Given the description of an element on the screen output the (x, y) to click on. 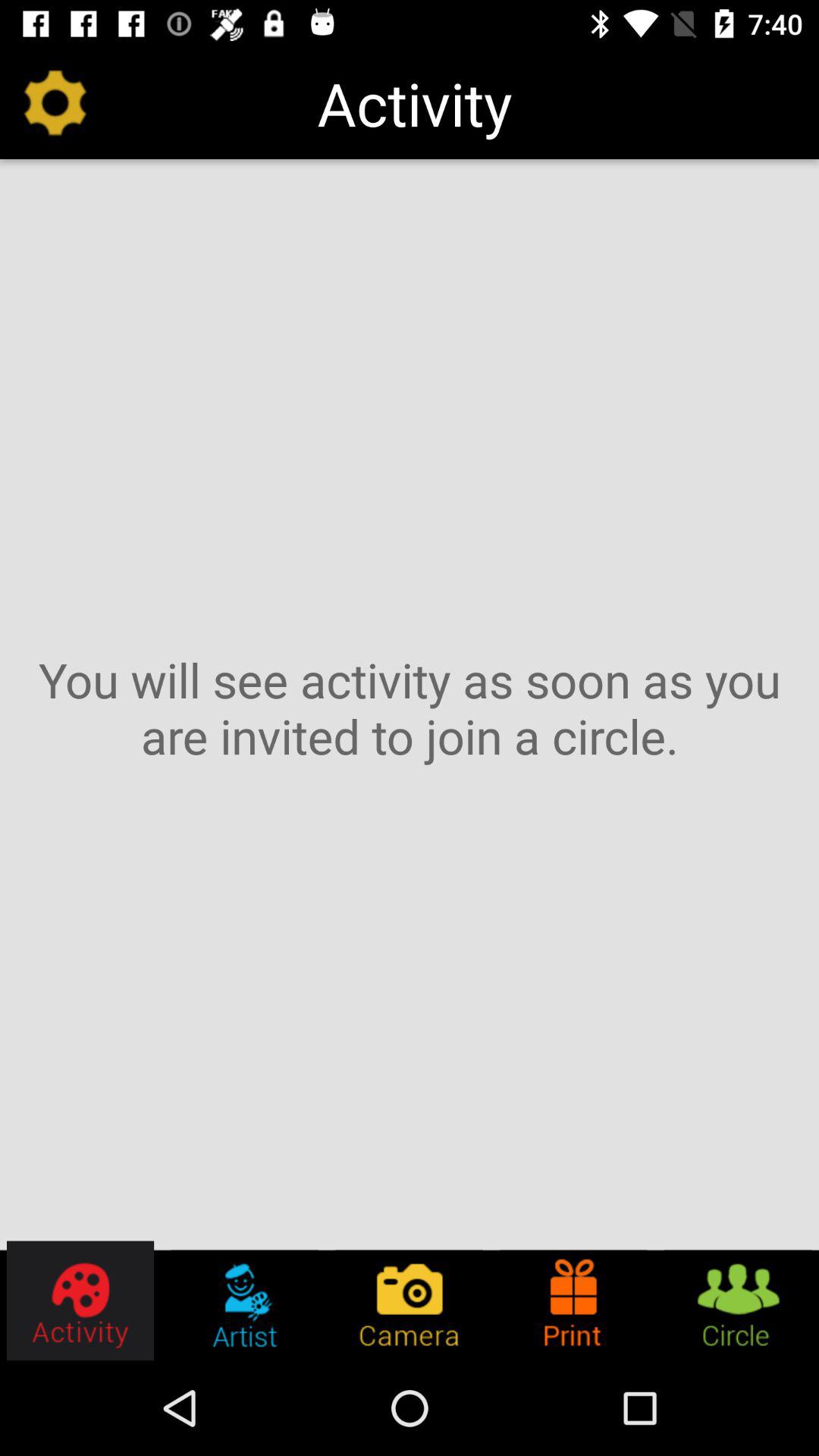
open the item to the left of the activity (55, 103)
